Given the description of an element on the screen output the (x, y) to click on. 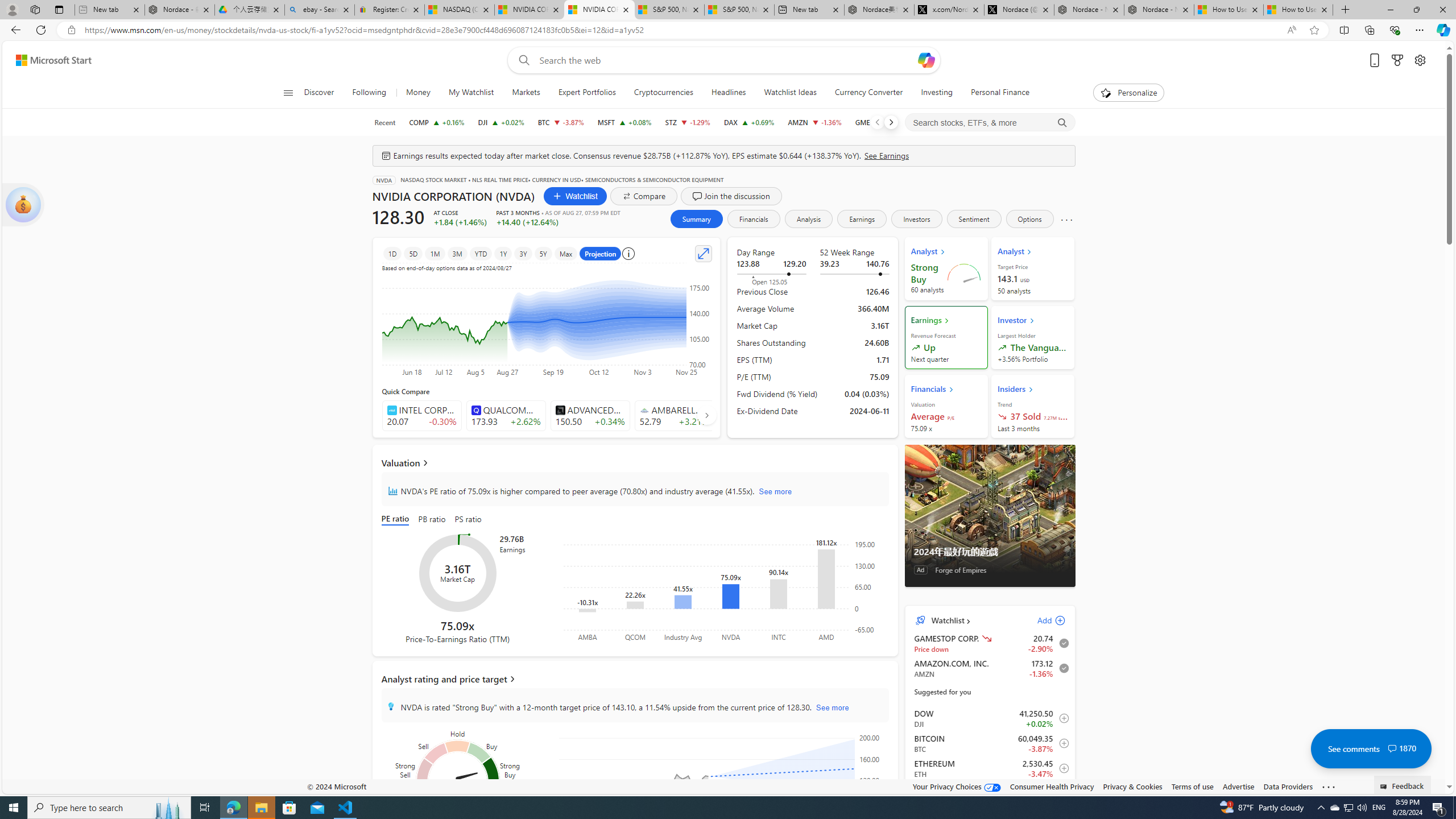
GME GAMESTOP CORP. decrease 20.74 -0.62 -2.90% itemundefined (989, 643)
Consumer Health Privacy (1051, 785)
Your Privacy Choices (956, 786)
Class: button-glyph (287, 92)
Personalize (1128, 92)
Cryptocurrencies (662, 92)
PB ratio (431, 520)
Class: card_head_icon_lightMode-DS-EntryPoint1-1 (1030, 388)
DJI DOW increase 41,250.50 +9.98 +0.02% (500, 122)
STZ CONSTELLATION BRANDS, INC. decrease 239.98 -3.13 -1.29% (687, 122)
